Given the description of an element on the screen output the (x, y) to click on. 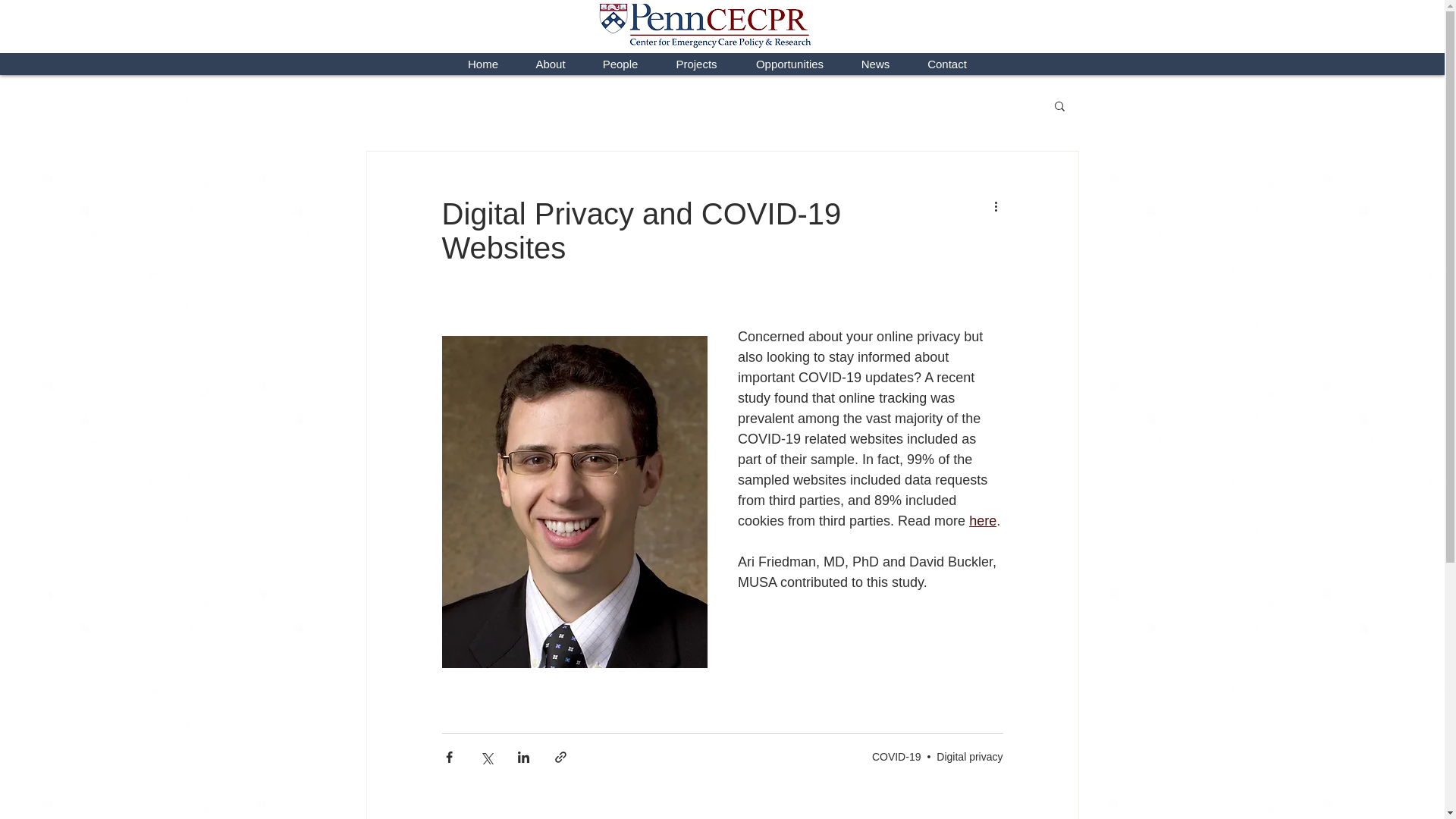
Home (482, 63)
here (982, 520)
Contact (947, 63)
Opportunities (789, 63)
People (619, 63)
News (875, 63)
Projects (696, 63)
COVID-19 (896, 756)
Digital privacy (969, 756)
About (550, 63)
